Given the description of an element on the screen output the (x, y) to click on. 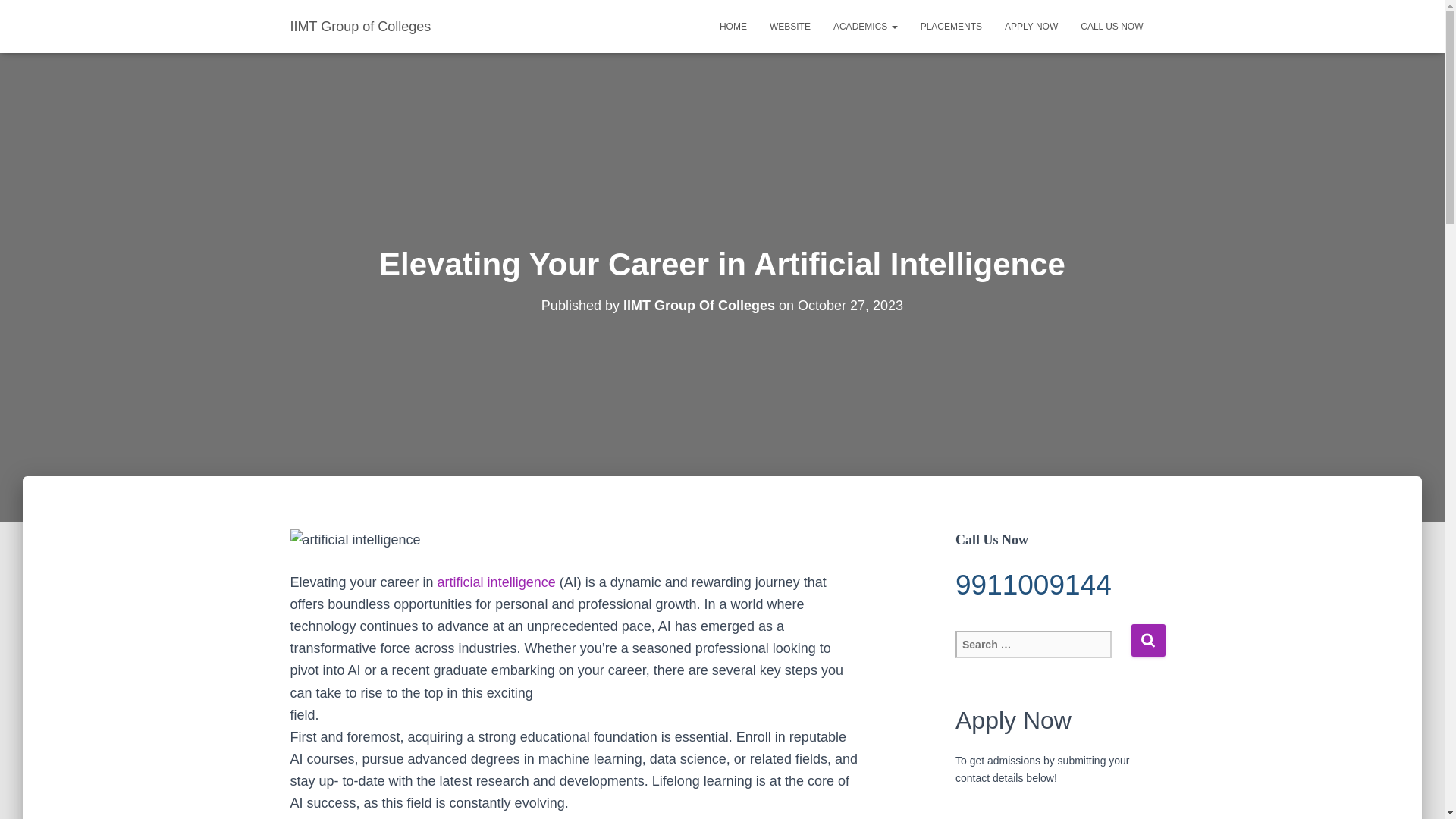
CALL US NOW (1111, 26)
YouTube video player (1054, 814)
Placements (950, 26)
artificial intelligence (497, 581)
WEBSITE (790, 26)
Search (1148, 640)
IIMT Group Of Colleges (698, 305)
IIMT Group of Colleges (360, 26)
IIMT Group of Colleges  (360, 26)
Home (732, 26)
9911009144 (1054, 585)
Search (1148, 640)
Academics (865, 26)
Call Us Now (1111, 26)
Apply Now (1030, 26)
